Given the description of an element on the screen output the (x, y) to click on. 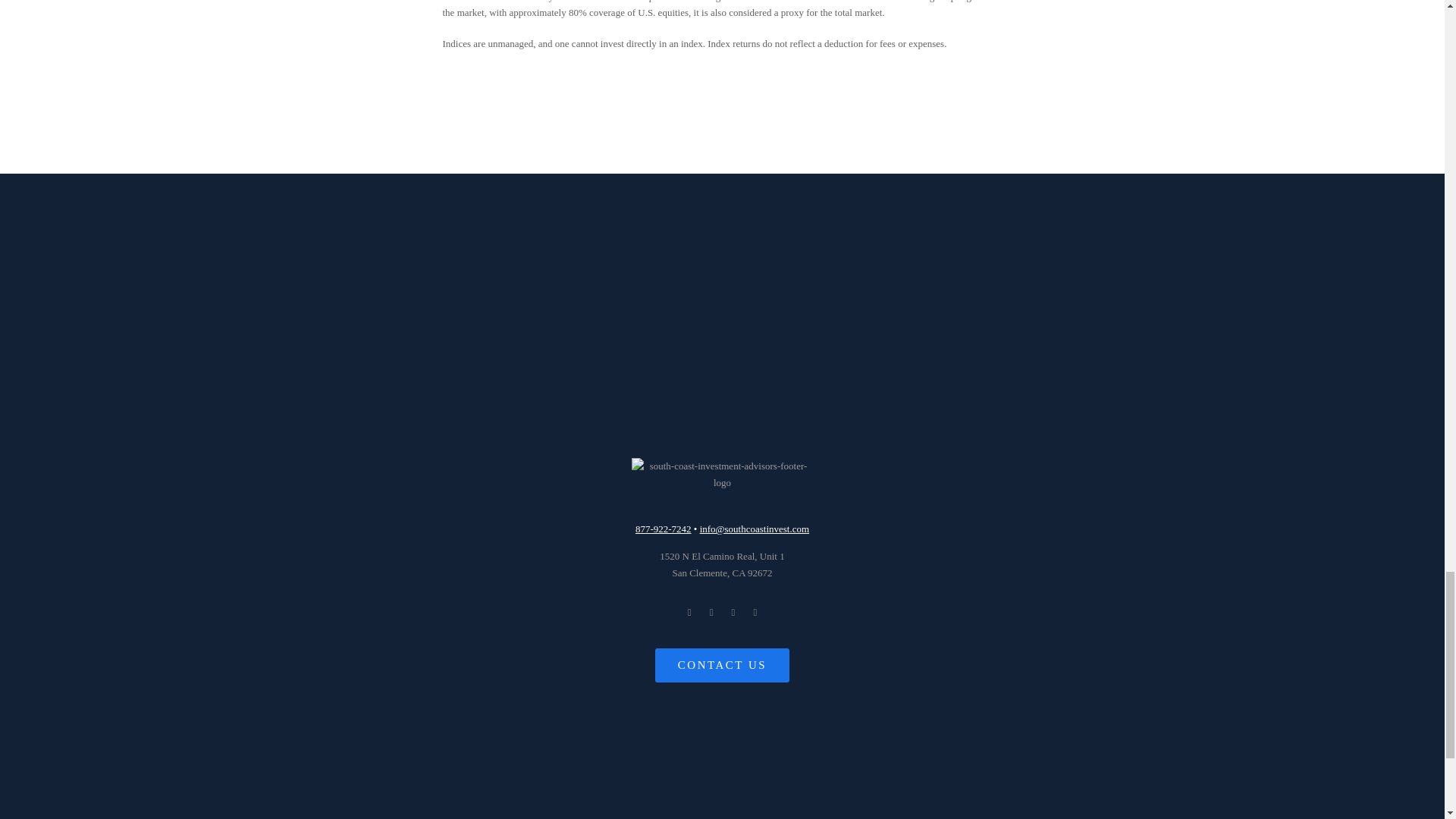
south-coast-investment-advisors-footer-logo (721, 473)
877-922-7242 (721, 564)
Facebook (662, 528)
